Given the description of an element on the screen output the (x, y) to click on. 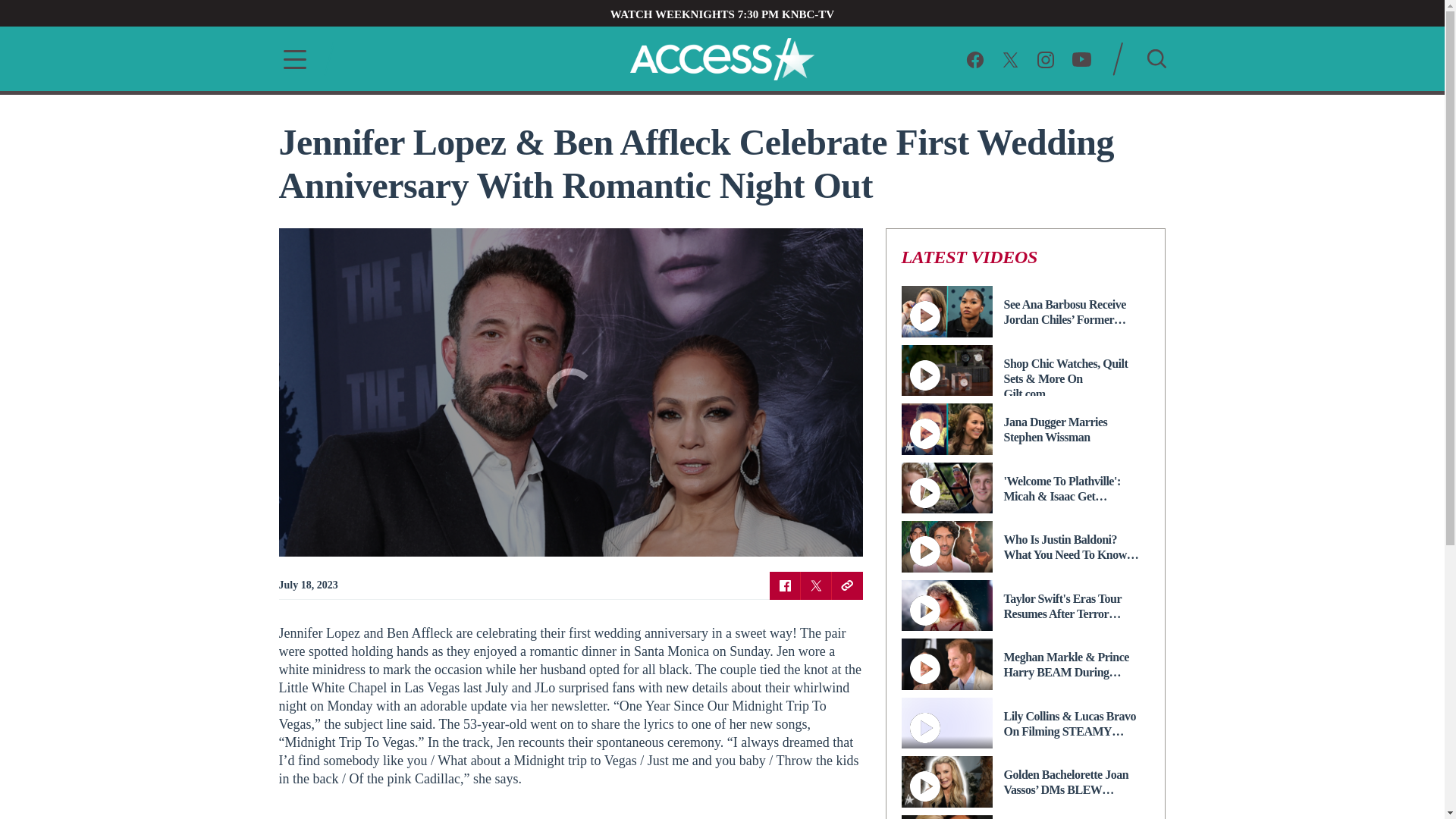
Main navigation (290, 59)
Copy URL (846, 584)
Youtube (1080, 58)
SEARCH (1156, 58)
Instagram (1045, 58)
Facebook (783, 584)
Facebook (975, 58)
Twitter (1010, 58)
Twitter (815, 584)
